Given the description of an element on the screen output the (x, y) to click on. 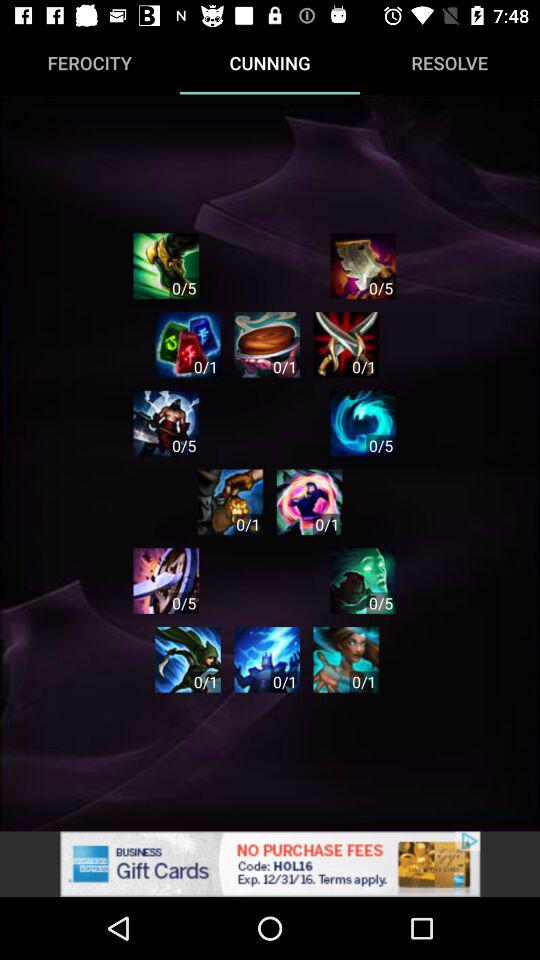
game logo (187, 344)
